Given the description of an element on the screen output the (x, y) to click on. 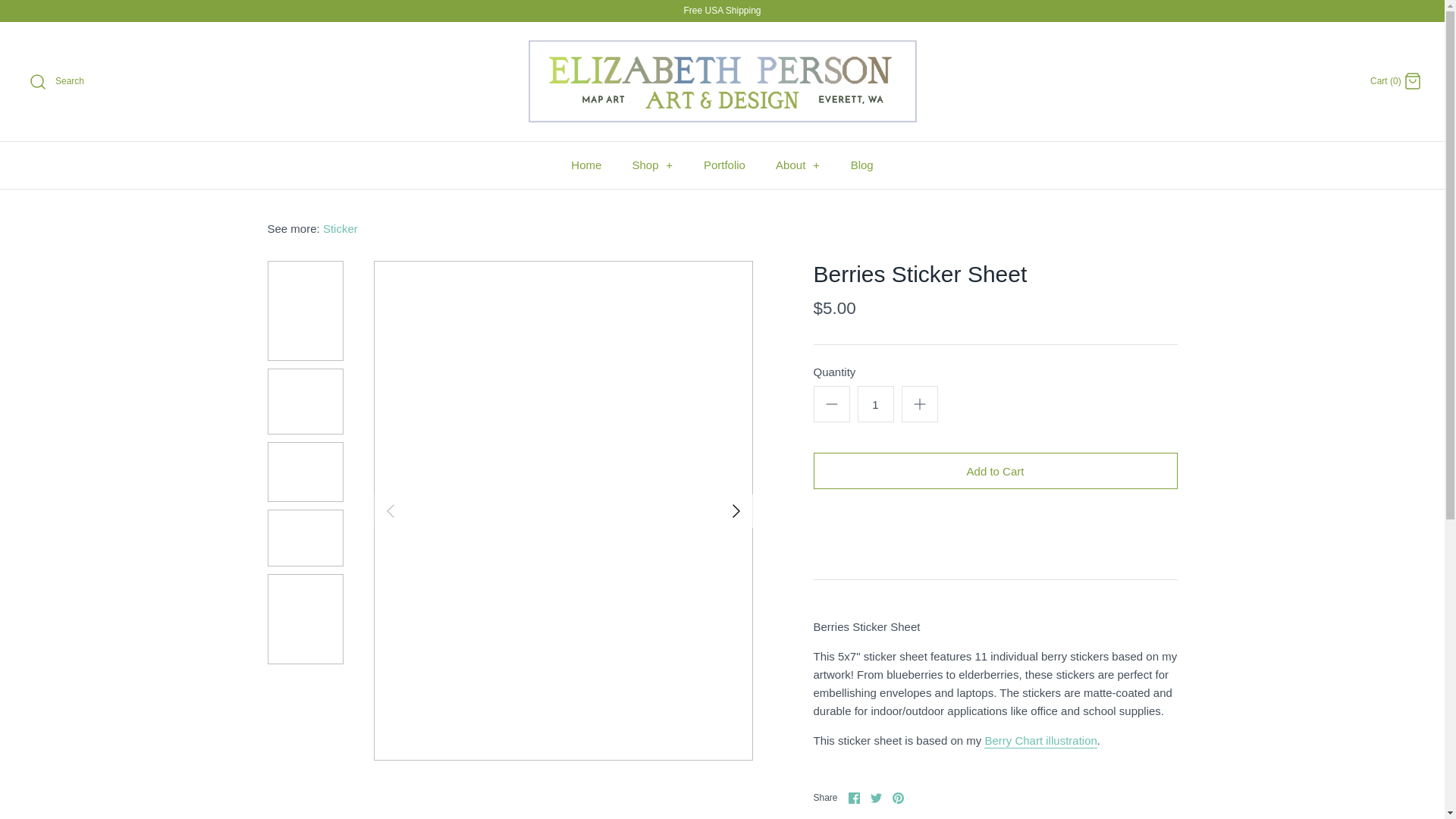
Add to Cart (994, 470)
Minus (831, 403)
1 (875, 403)
Pinterest (898, 797)
Facebook (854, 797)
Twitter (876, 797)
Home (585, 165)
Left (389, 510)
Right (735, 510)
Plus (919, 403)
